Given the description of an element on the screen output the (x, y) to click on. 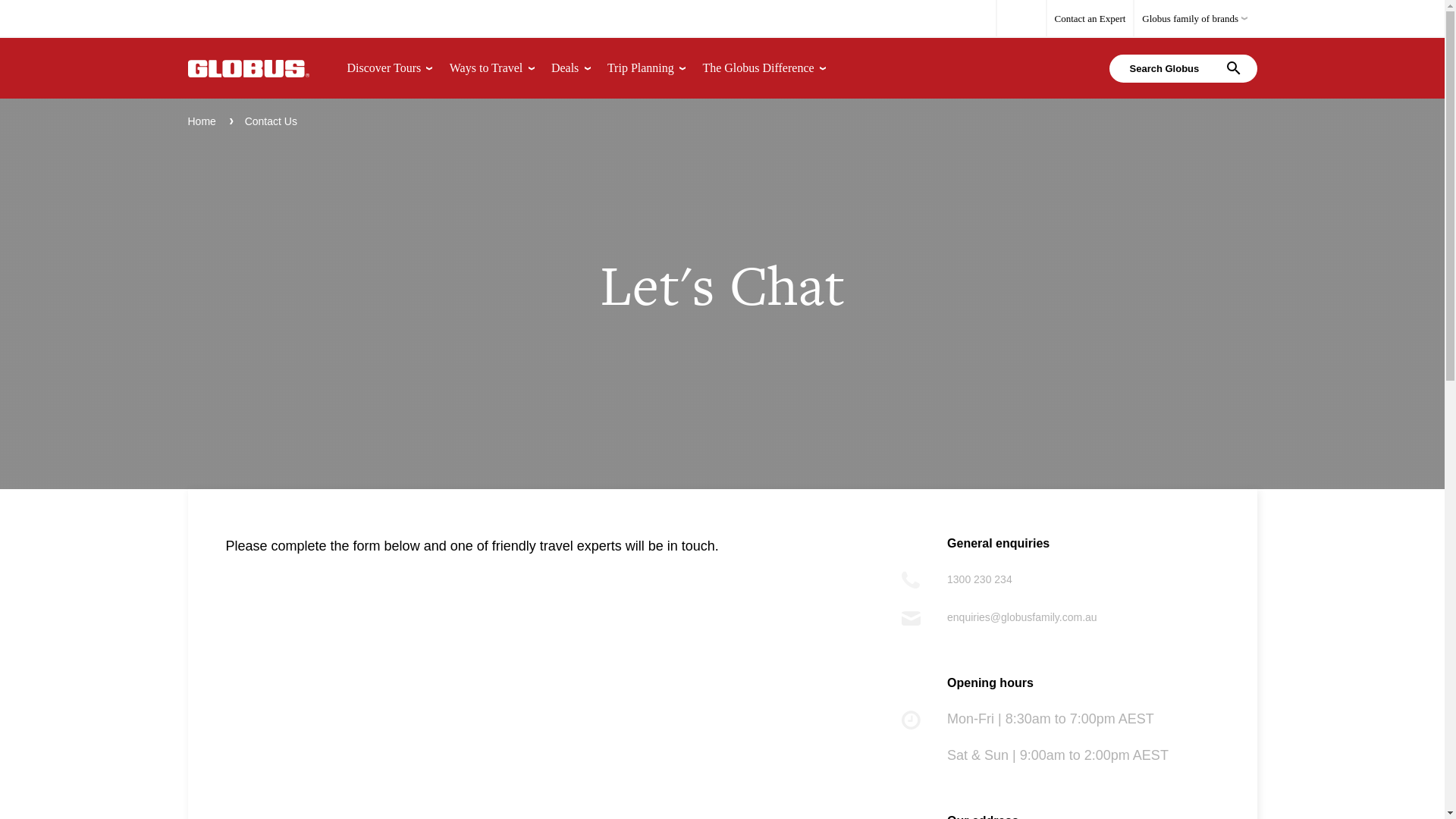
enquiries@globusfamily.com.au Element type: text (1022, 616)
Contact an Expert Element type: text (1089, 18)
Home Element type: text (202, 121)
